Given the description of an element on the screen output the (x, y) to click on. 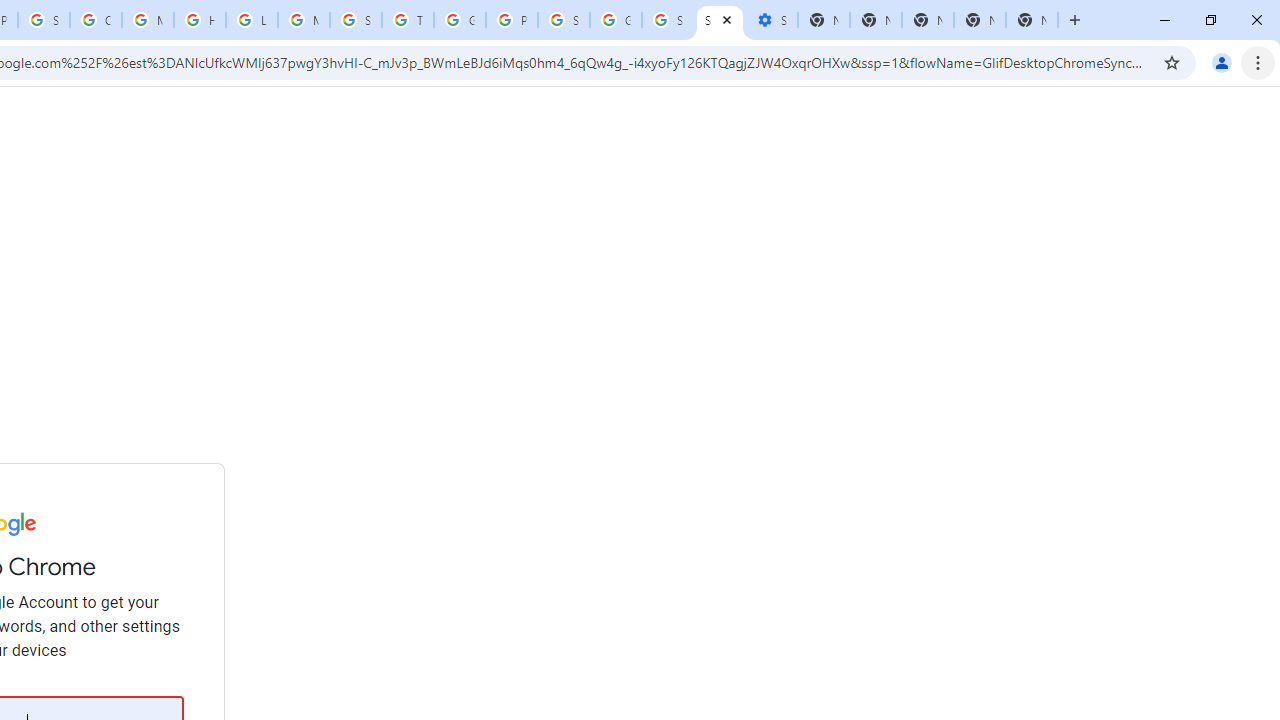
Sign in - Google Accounts (43, 20)
Sign in - Google Accounts (563, 20)
Trusted Information and Content - Google Safety Center (407, 20)
Settings - Performance (771, 20)
Google Ads - Sign in (459, 20)
Google Cybersecurity Innovations - Google Safety Center (616, 20)
